Given the description of an element on the screen output the (x, y) to click on. 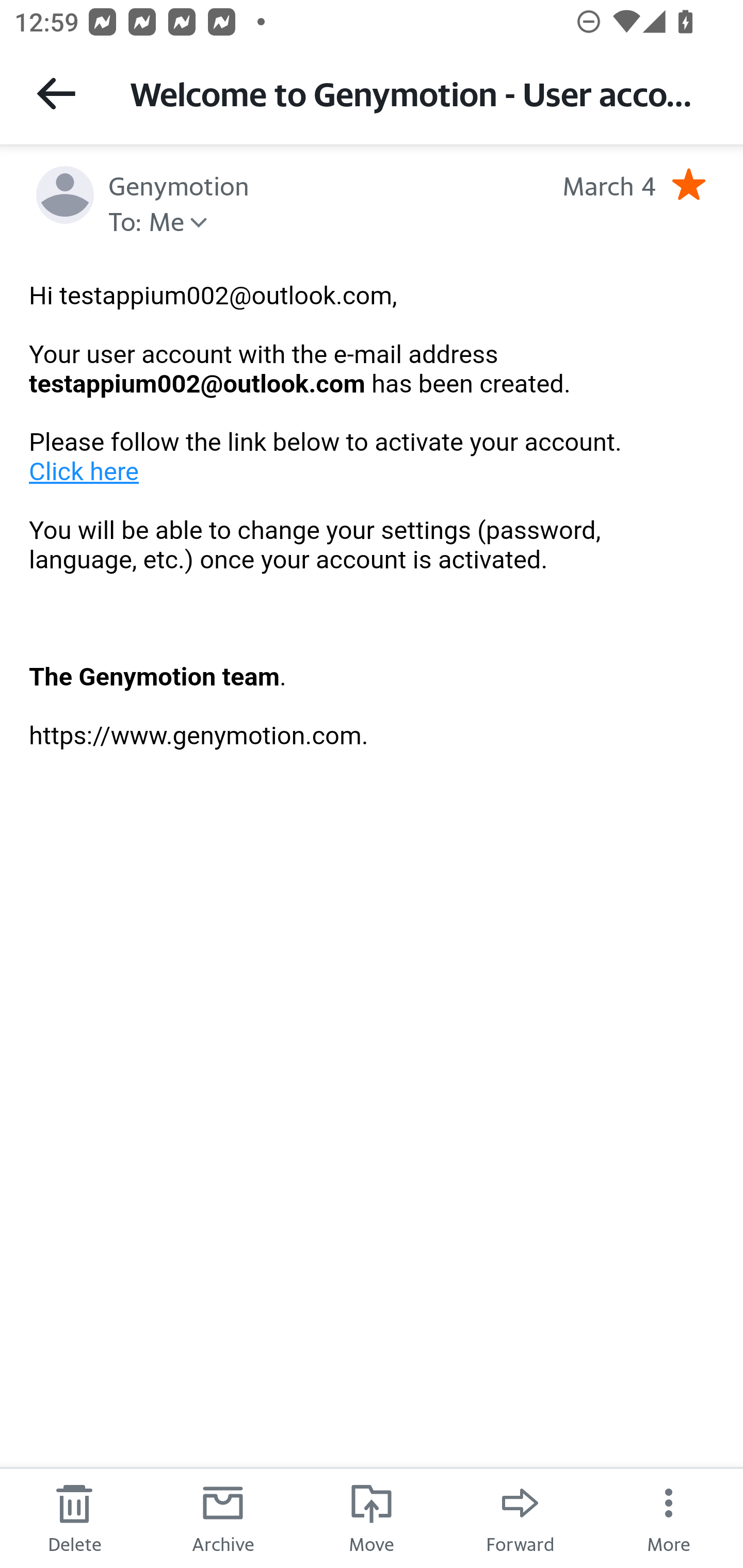
Back (55, 92)
Profile (64, 195)
Genymotion Sender Genymotion (178, 184)
Remove star. (688, 184)
Click here (84, 470)
Delete (74, 1517)
Archive (222, 1517)
Move (371, 1517)
Forward (519, 1517)
More (668, 1517)
